Given the description of an element on the screen output the (x, y) to click on. 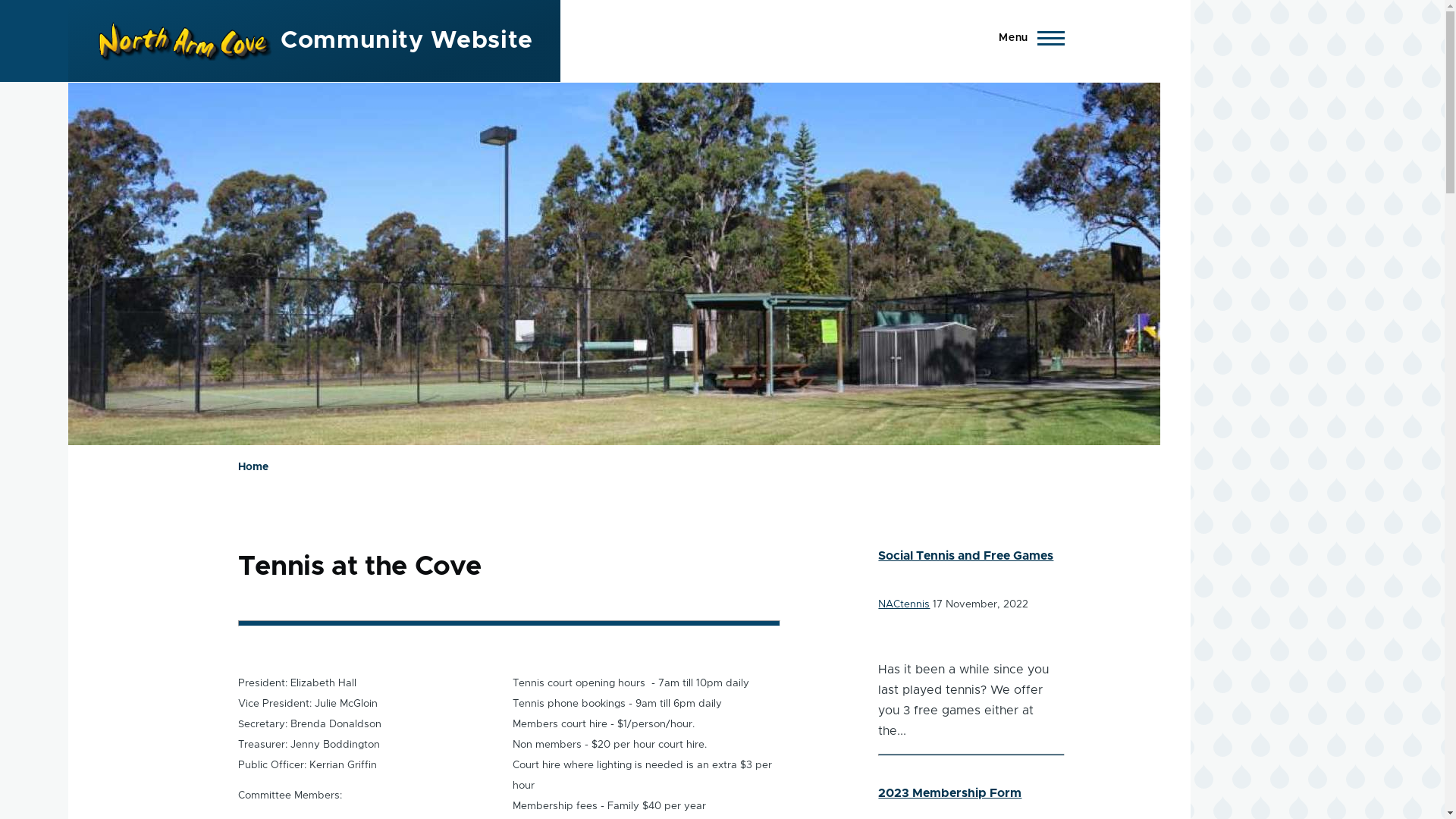
NACtennis Element type: text (903, 604)
Skip to main content Element type: text (595, 6)
Menu Element type: text (1027, 37)
Home Element type: text (253, 466)
Tennis court Element type: hover (614, 263)
Community Website Element type: text (406, 40)
Social Tennis and Free Games Element type: text (965, 555)
2023 Membership Form Element type: text (949, 793)
